Given the description of an element on the screen output the (x, y) to click on. 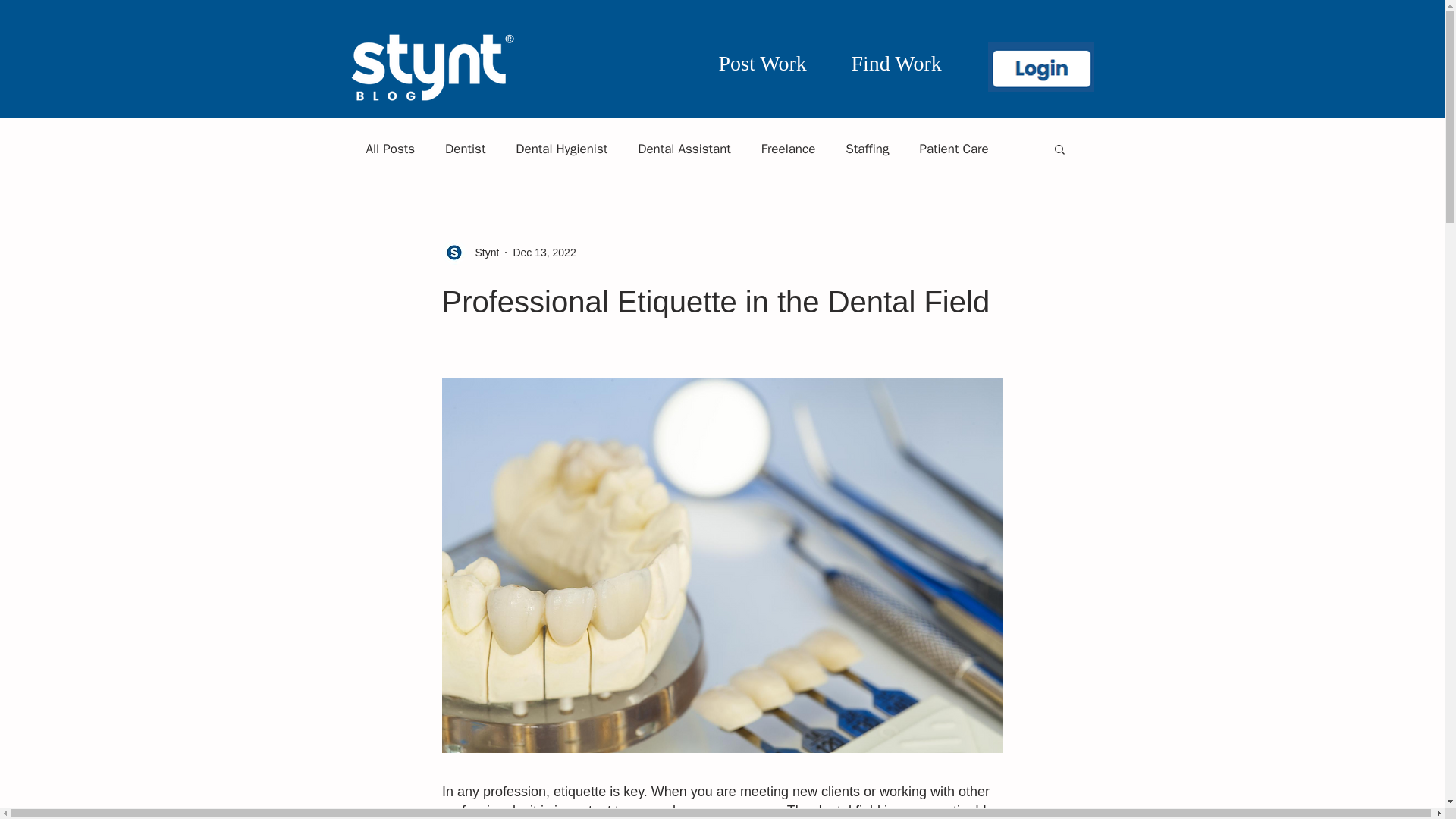
Dec 13, 2022 (543, 251)
Dental Assistant (683, 148)
Patient Care (953, 148)
Freelance (788, 148)
Stynt logo 2020 R.png (432, 67)
Post Work (762, 63)
Staffing (866, 148)
Dentist (464, 148)
Screen Shot 2020-08-28 at 11.18.06 AM.pn (1040, 66)
Dental Hygienist (561, 148)
